Given the description of an element on the screen output the (x, y) to click on. 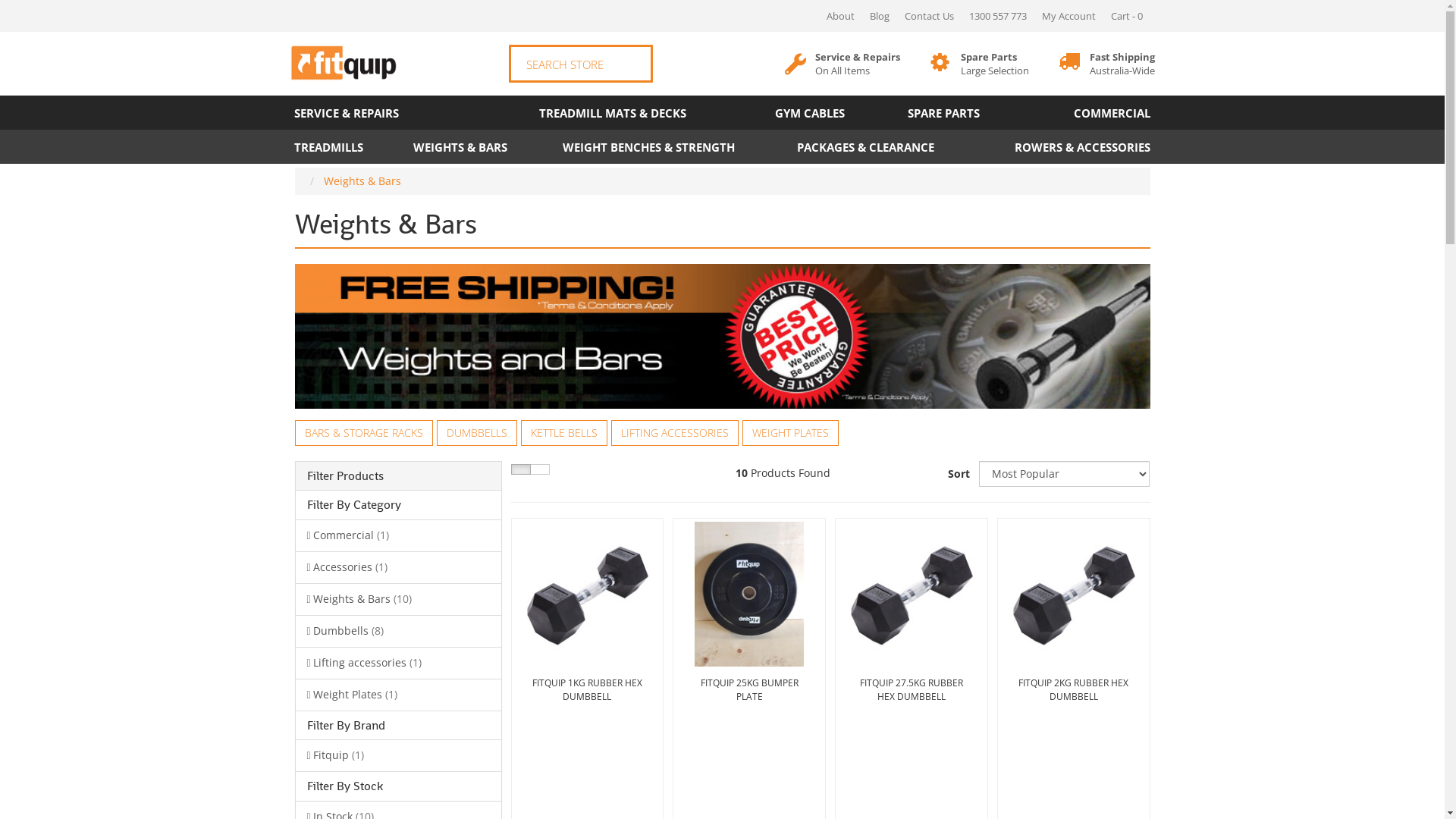
Contact Us Element type: text (928, 15)
Cart - 0 Element type: text (1125, 15)
Spare Parts
Large Selection Element type: text (994, 64)
Accessories (1) Element type: text (398, 567)
About Element type: text (840, 15)
PACKAGES & CLEARANCE Element type: text (865, 146)
Fitquip (1) Element type: text (398, 755)
GYM CABLES Element type: text (809, 112)
COMMERCIAL Element type: text (1082, 112)
SERVICE & REPAIRS Element type: text (384, 112)
TREADMILL MATS & DECKS Element type: text (611, 112)
Commercial (1) Element type: text (398, 535)
Blog Element type: text (878, 15)
WEIGHT PLATES Element type: text (789, 432)
DUMBBELLS Element type: text (476, 432)
My Account Element type: text (1068, 15)
FITQUIP 27.5KG RUBBER HEX DUMBBELL Element type: text (911, 694)
Service & Repairs
On All Items Element type: text (856, 64)
1300 557 773 Element type: text (997, 15)
Weights & Bars (10) Element type: text (398, 599)
SPARE PARTS Element type: text (943, 112)
FITQUIP 2KG RUBBER HEX DUMBBELL Element type: text (1073, 694)
BARS & STORAGE RACKS Element type: text (363, 432)
Filter Products Element type: text (397, 476)
Dumbbells (8) Element type: text (398, 630)
Weights & Bars Element type: text (361, 180)
Weight Plates (1) Element type: text (398, 694)
TREADMILLS Element type: text (340, 146)
FITQUIP 1KG RUBBER HEX DUMBBELL Element type: text (587, 694)
Lifting accessories (1) Element type: text (398, 662)
FITQUIP 25KG BUMPER PLATE Element type: text (749, 694)
LIFTING ACCESSORIES Element type: text (674, 432)
ROWERS & ACCESSORIES Element type: text (1058, 146)
Fitquip Element type: hover (344, 63)
Fast Shipping
Australia-Wide Element type: text (1121, 64)
KETTLE BELLS Element type: text (563, 432)
WEIGHT BENCHES & STRENGTH Element type: text (648, 146)
WEIGHTS & BARS Element type: text (460, 146)
SEARCH STORE Element type: text (580, 62)
